Given the description of an element on the screen output the (x, y) to click on. 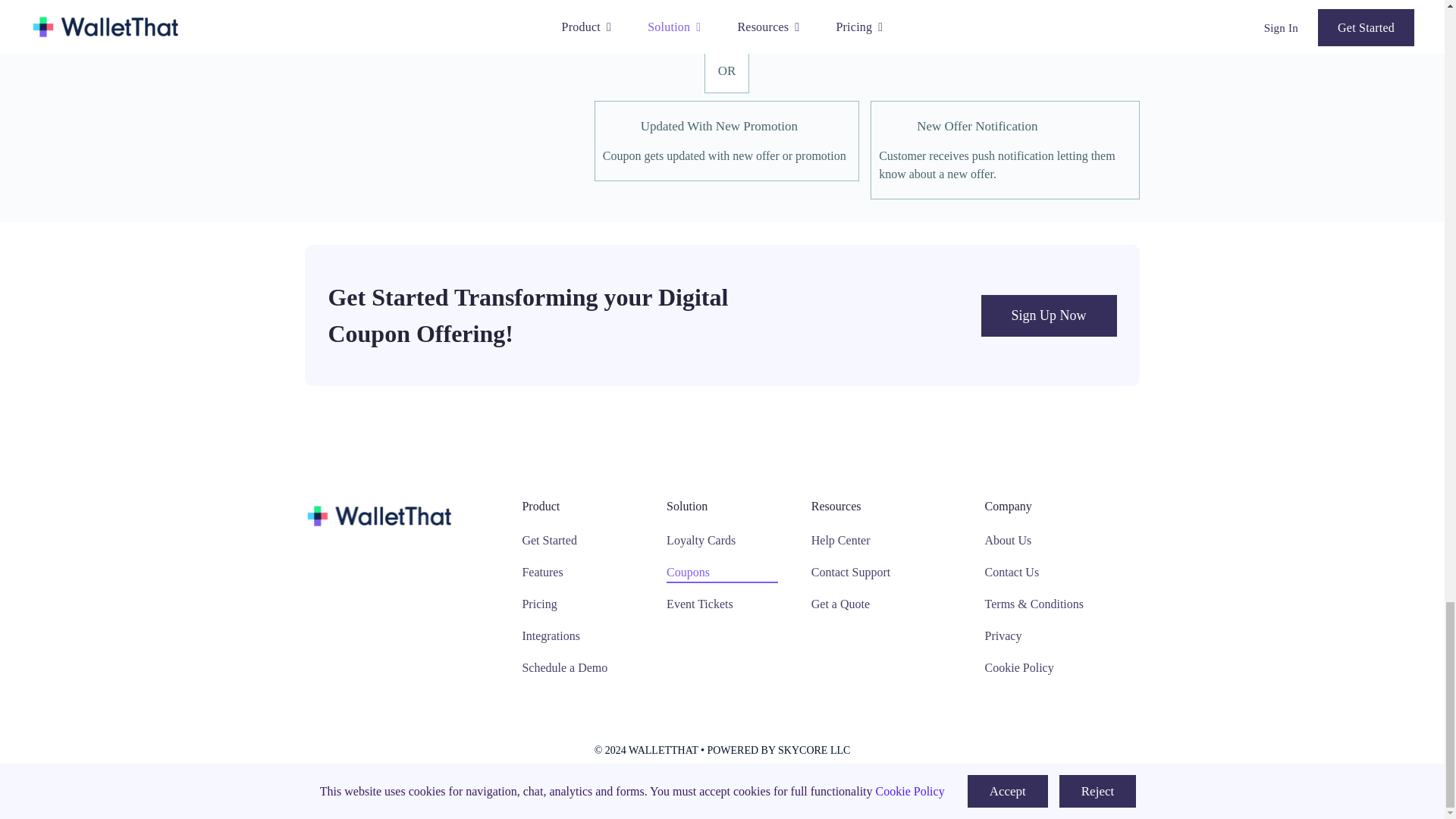
Integrations (577, 637)
Pricing (577, 605)
New Promotion (617, 123)
Notification (893, 123)
Loyalty Cards (721, 541)
Get Started (577, 541)
Schedule a Demo (577, 668)
Features (577, 573)
Sign Up Now (1048, 315)
Customer Shopping with Mobile Wallet (1004, 50)
